Given the description of an element on the screen output the (x, y) to click on. 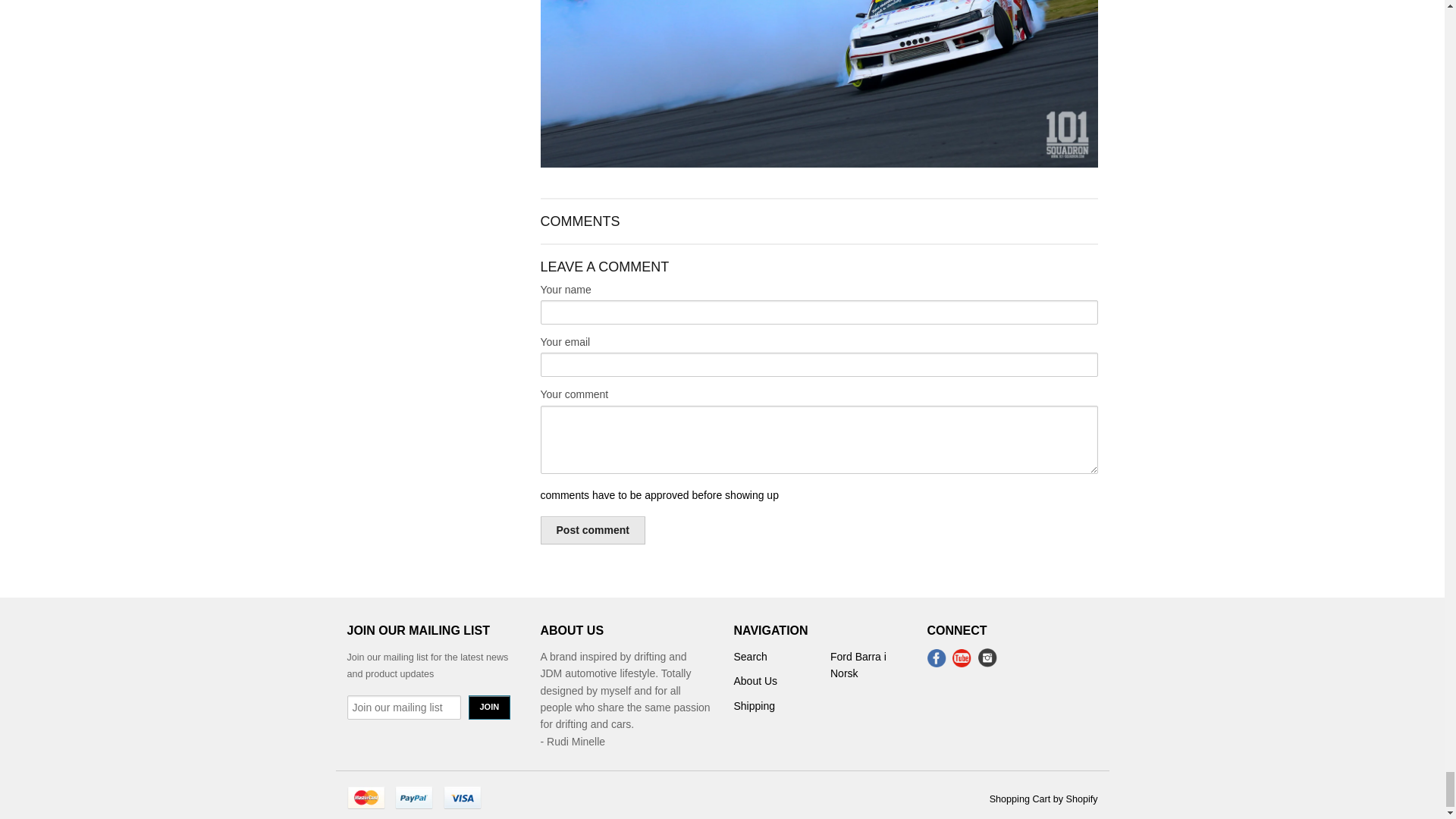
JOIN (489, 707)
Post comment (592, 530)
